Given the description of an element on the screen output the (x, y) to click on. 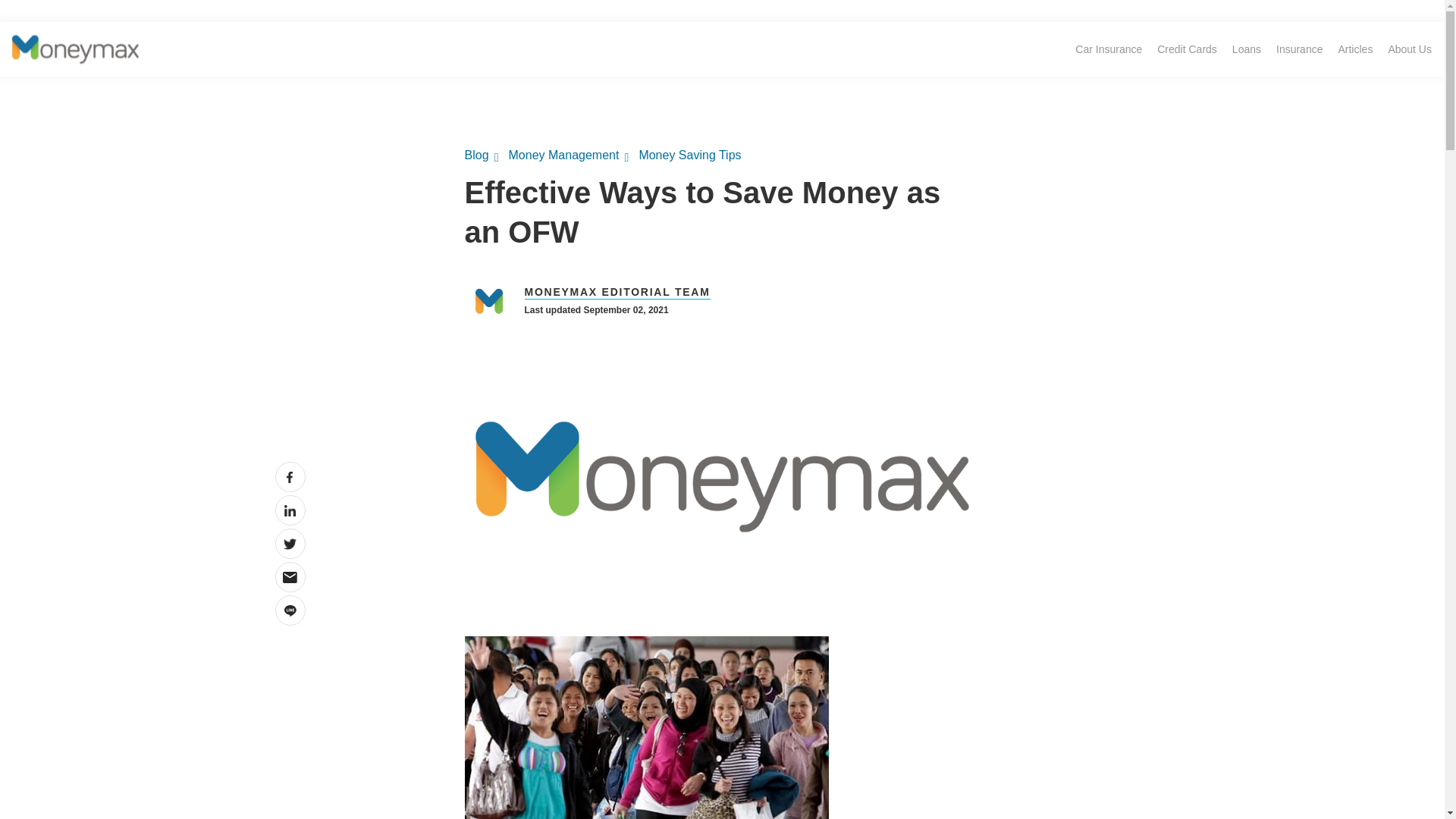
Insurance (1299, 49)
Loans (1246, 49)
Articles (1355, 49)
Share on Line (289, 610)
Car Insurance (1108, 49)
About Us (1409, 49)
Credit Cards (1187, 49)
